Given the description of an element on the screen output the (x, y) to click on. 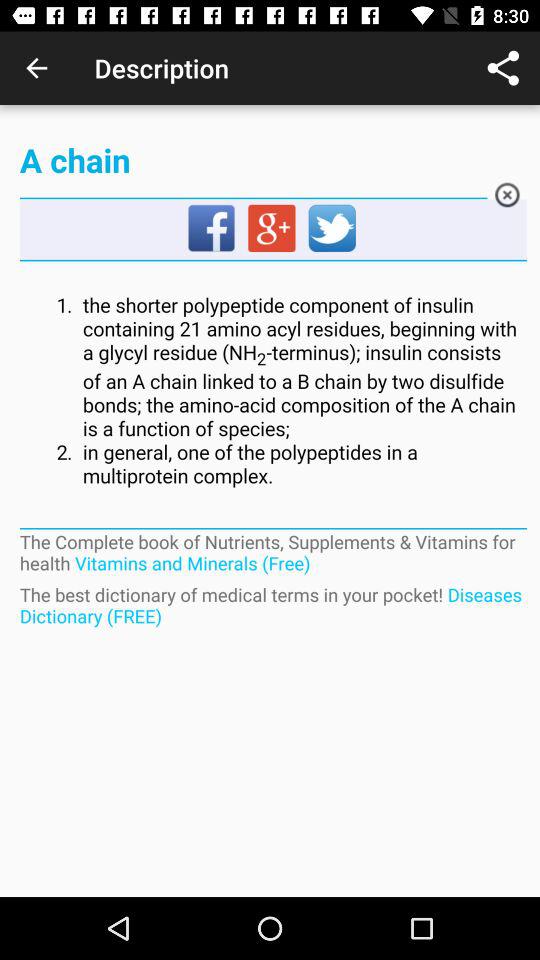
content area (272, 391)
